Given the description of an element on the screen output the (x, y) to click on. 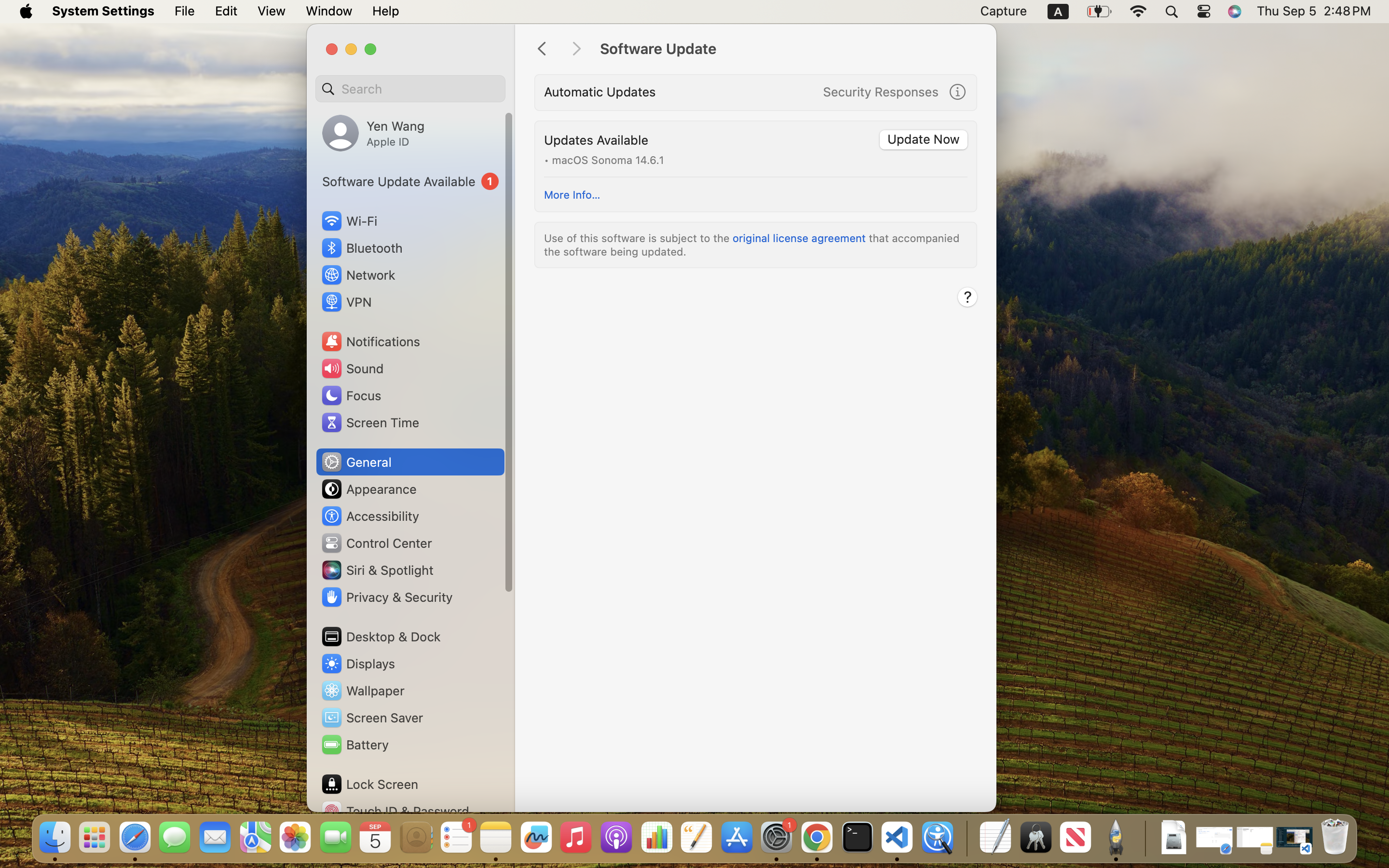
Software Update Element type: AXStaticText (788, 49)
Wi‑Fi Element type: AXStaticText (348, 220)
Touch ID & Password Element type: AXStaticText (394, 810)
Focus Element type: AXStaticText (350, 394)
Wallpaper Element type: AXStaticText (362, 690)
